Given the description of an element on the screen output the (x, y) to click on. 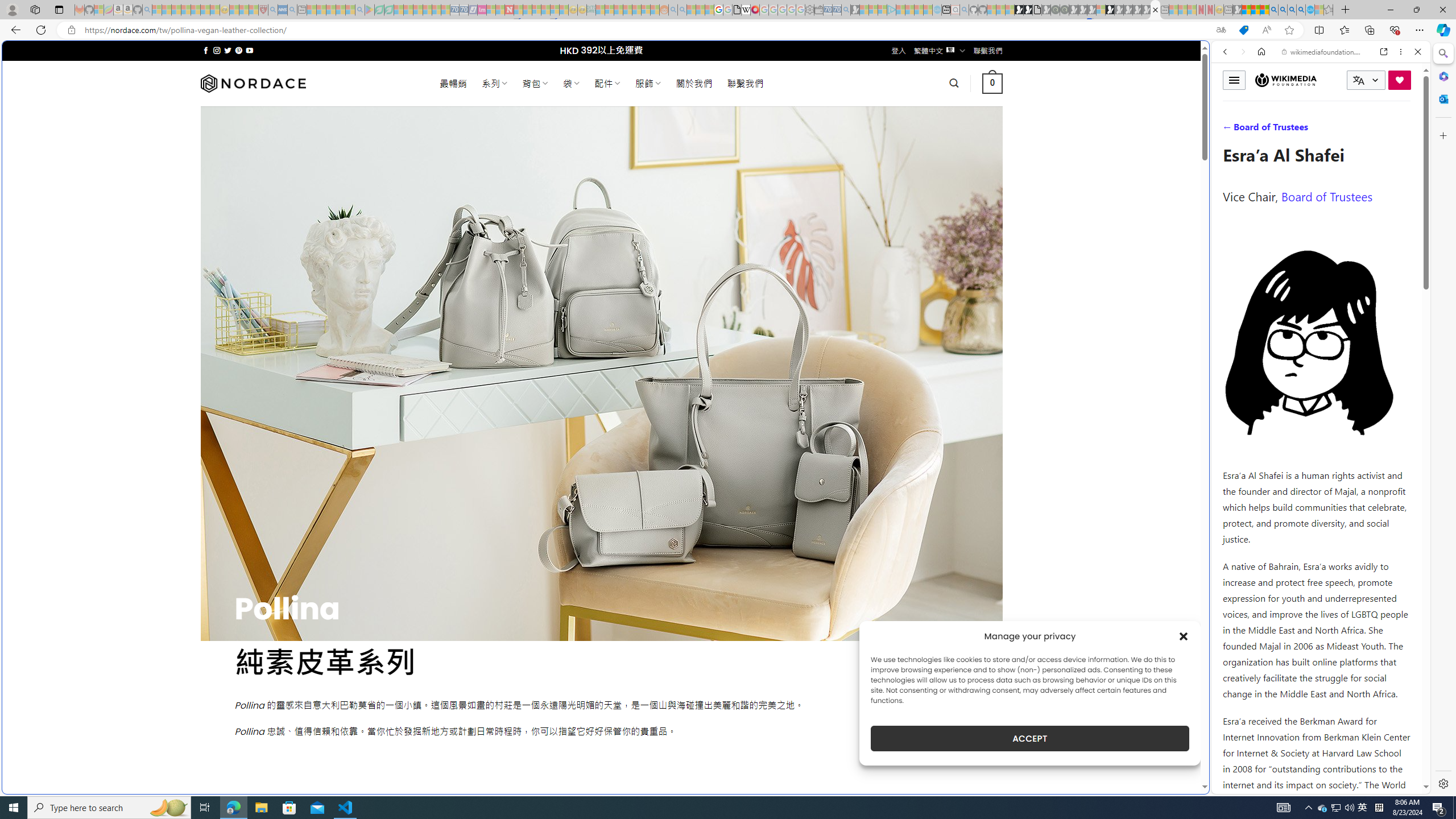
Board of Trustees (1326, 195)
